Given the description of an element on the screen output the (x, y) to click on. 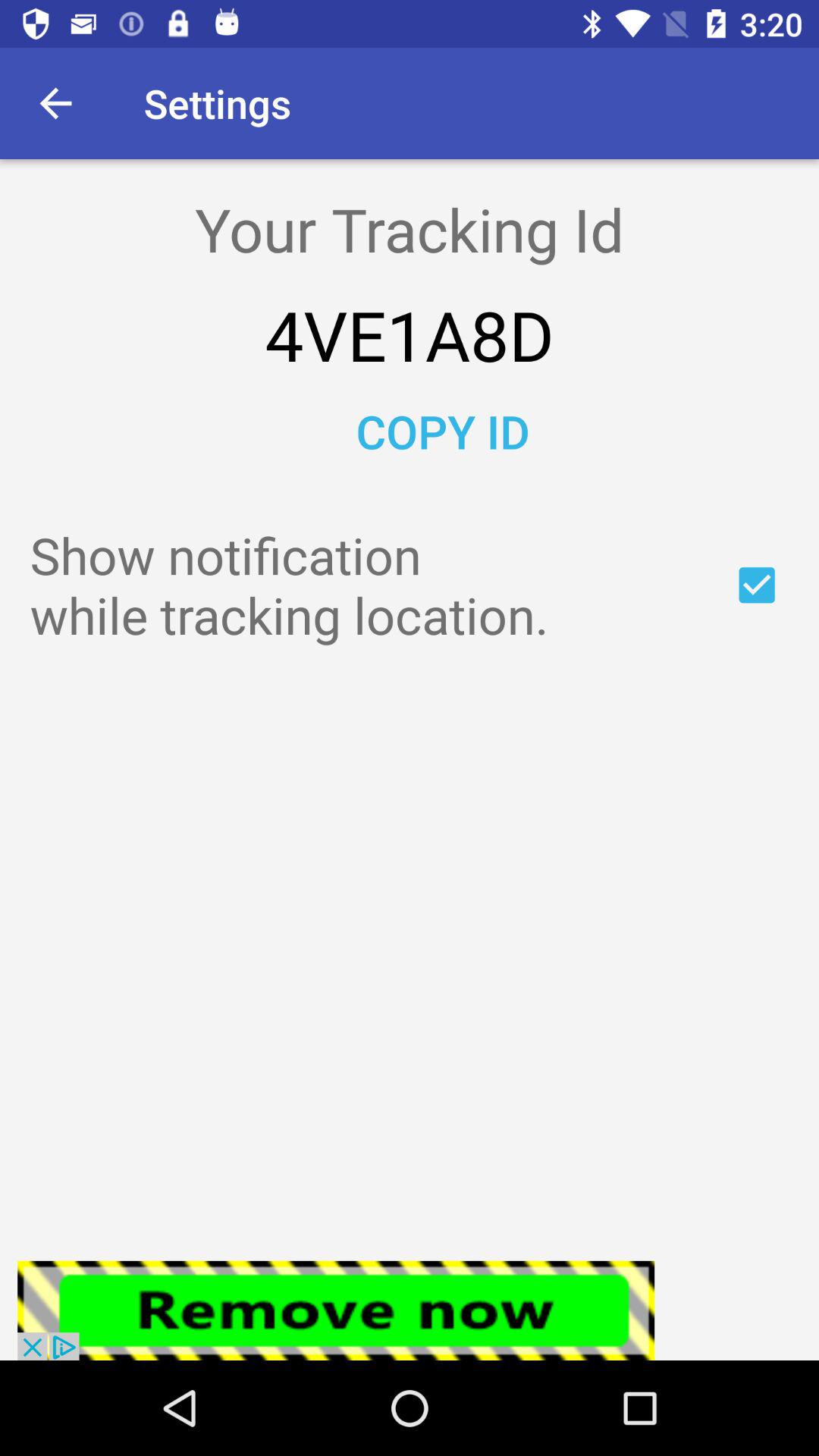
click the remove now bar (335, 1310)
